Given the description of an element on the screen output the (x, y) to click on. 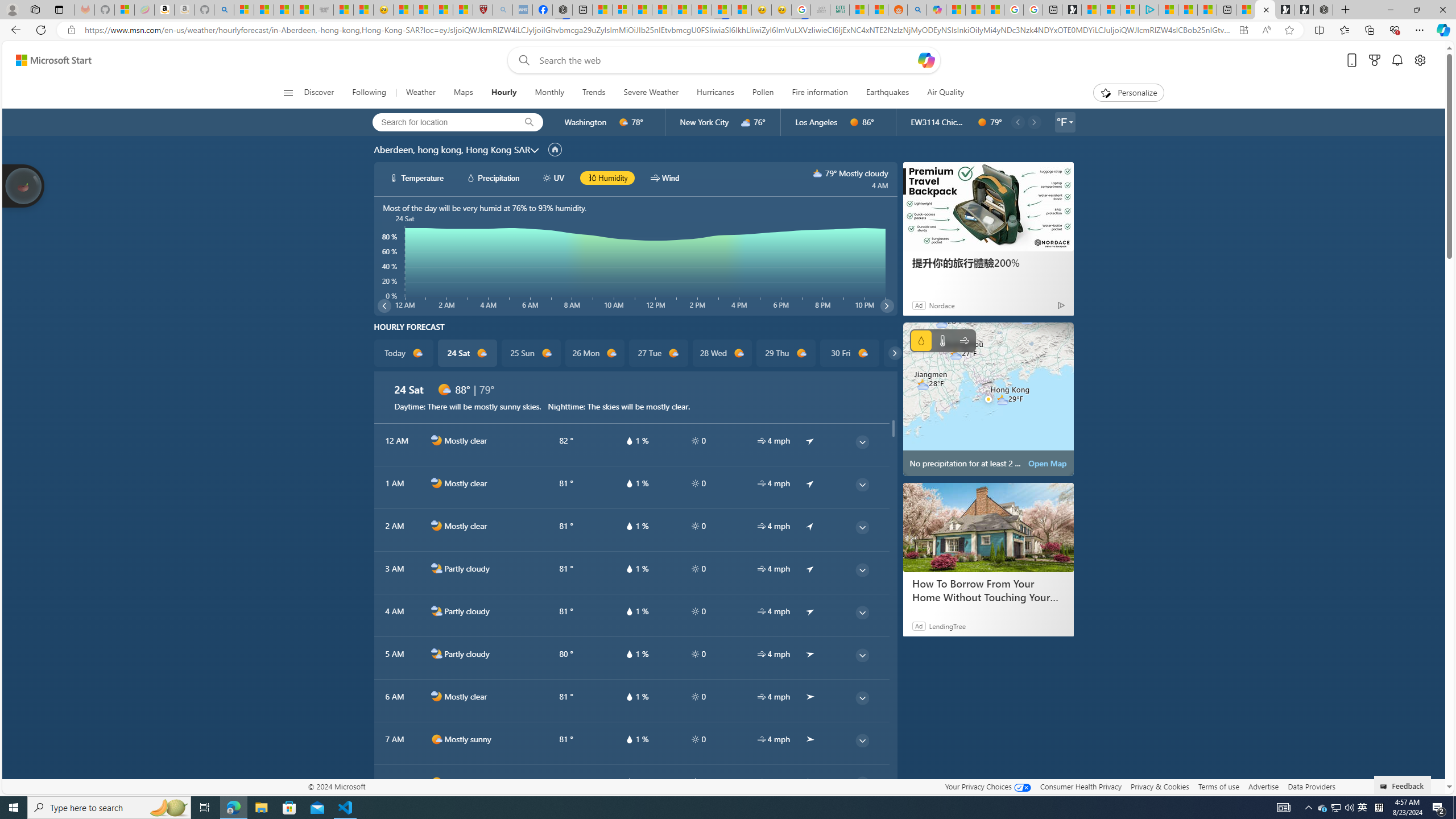
locationBar/search (529, 121)
hourlyTable/wind (761, 782)
d3000 (746, 121)
Search for location (440, 122)
Severe Weather (650, 92)
Temperature (942, 340)
Monthly (549, 92)
